Given the description of an element on the screen output the (x, y) to click on. 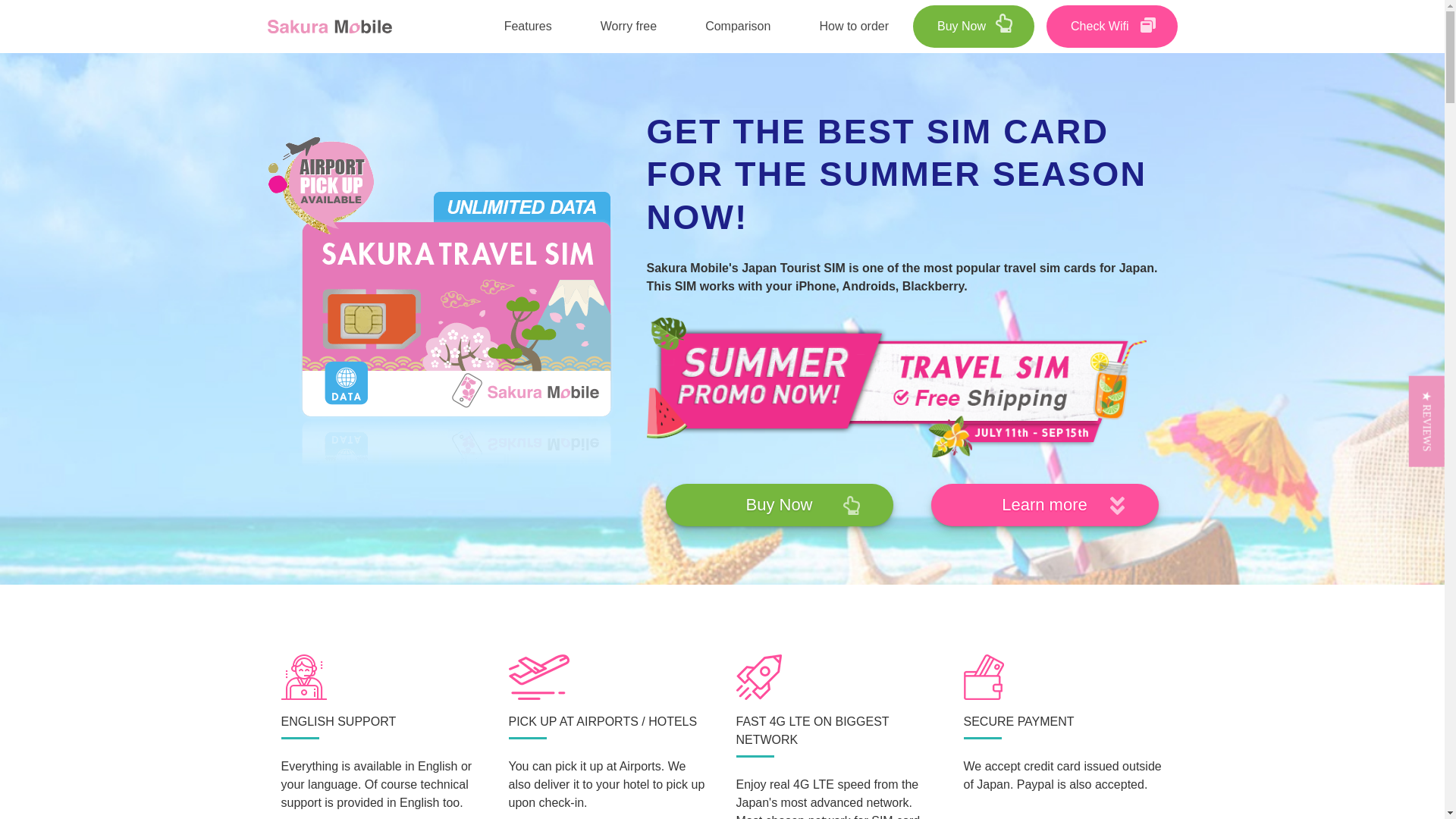
How to order (853, 26)
Comparison (737, 26)
Buy Now (972, 25)
Check Wifi (1111, 25)
Features (528, 26)
Buy Now (779, 505)
Worry free (628, 26)
Learn more (1044, 505)
